Given the description of an element on the screen output the (x, y) to click on. 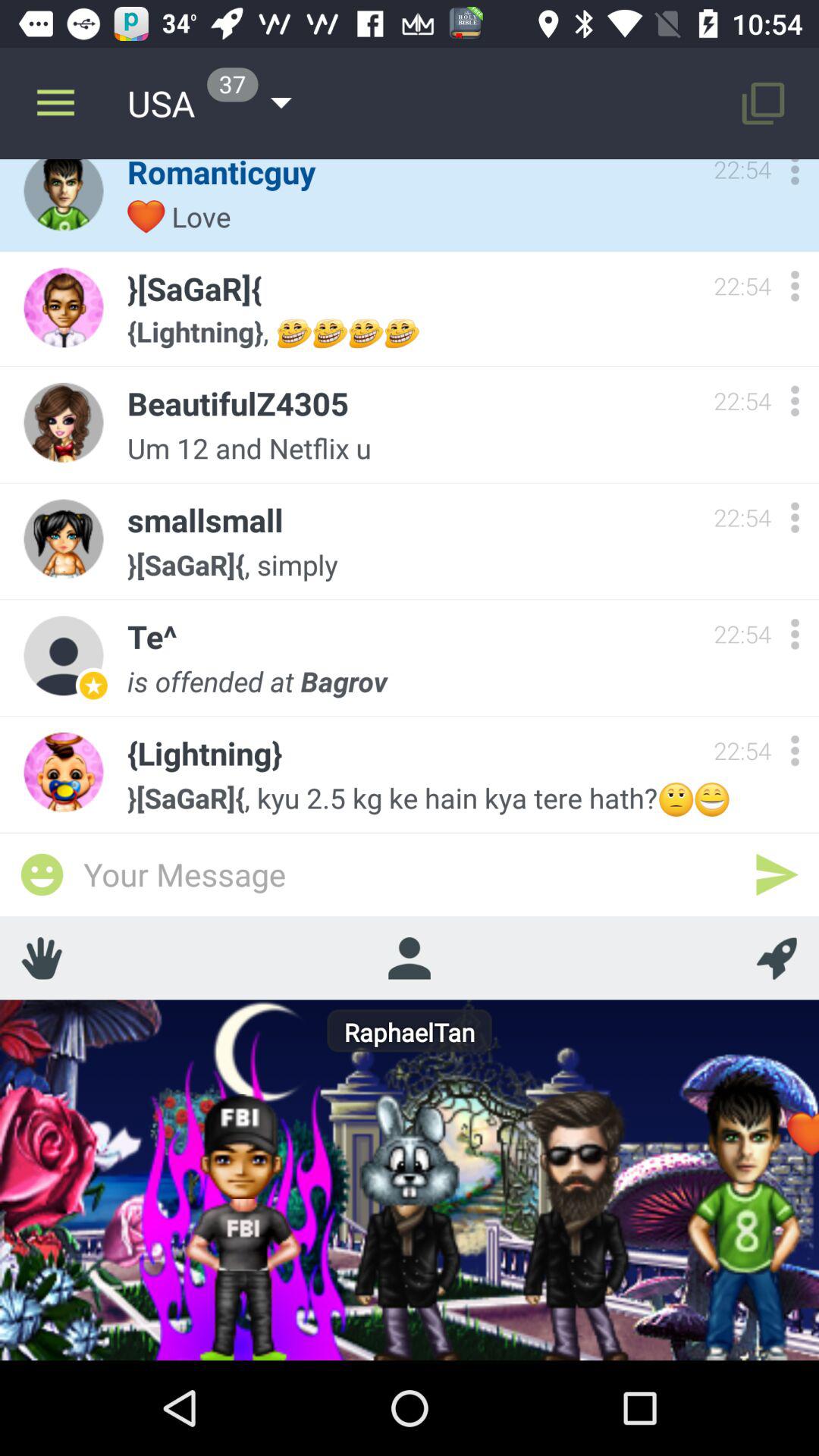
view chat options (795, 176)
